Given the description of an element on the screen output the (x, y) to click on. 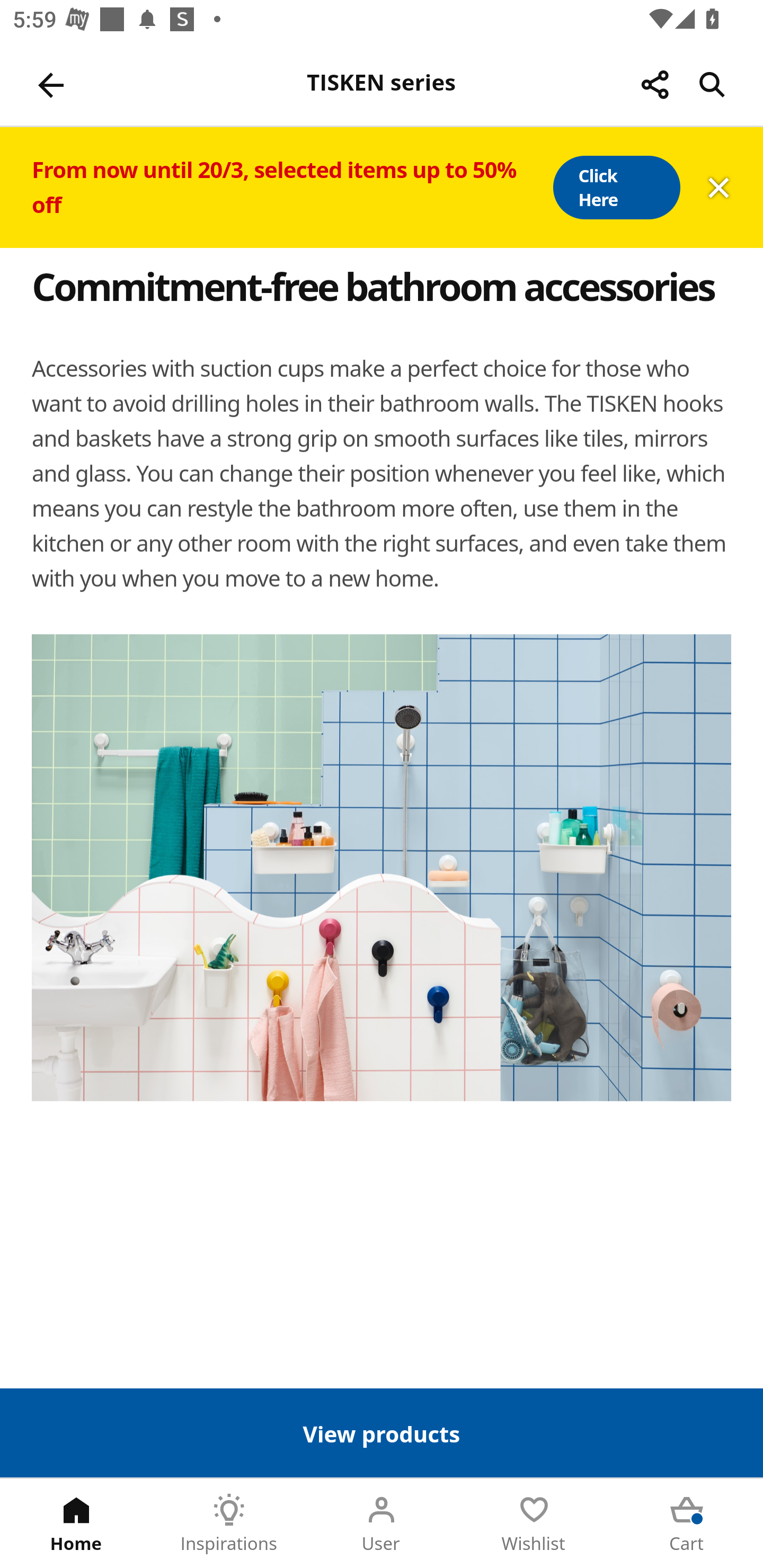
Click Here (615, 187)
View products (381, 1432)
Home
Tab 1 of 5 (76, 1522)
Inspirations
Tab 2 of 5 (228, 1522)
User
Tab 3 of 5 (381, 1522)
Wishlist
Tab 4 of 5 (533, 1522)
Cart
Tab 5 of 5 (686, 1522)
